Given the description of an element on the screen output the (x, y) to click on. 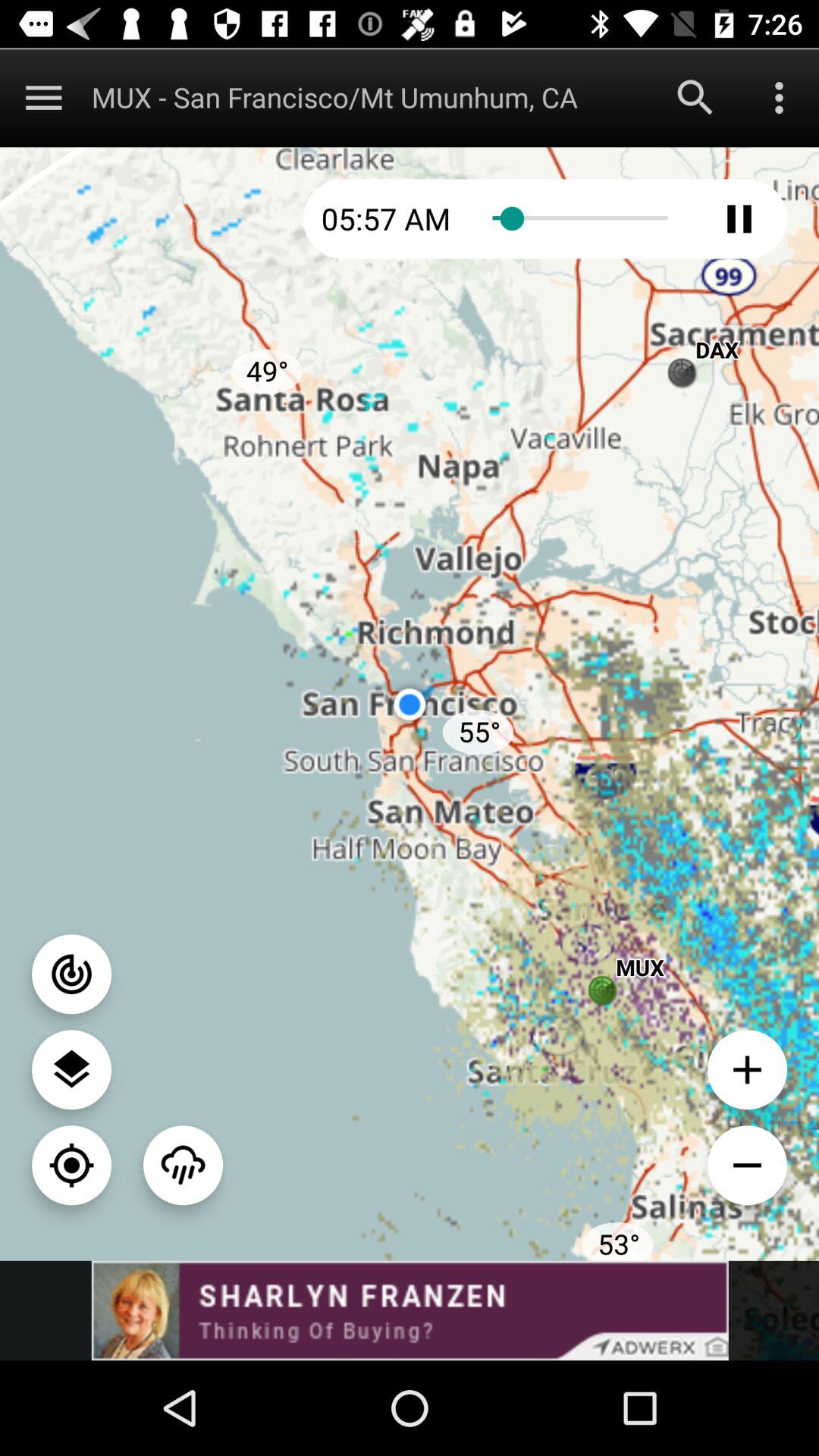
choose new location on the map (71, 1165)
